Given the description of an element on the screen output the (x, y) to click on. 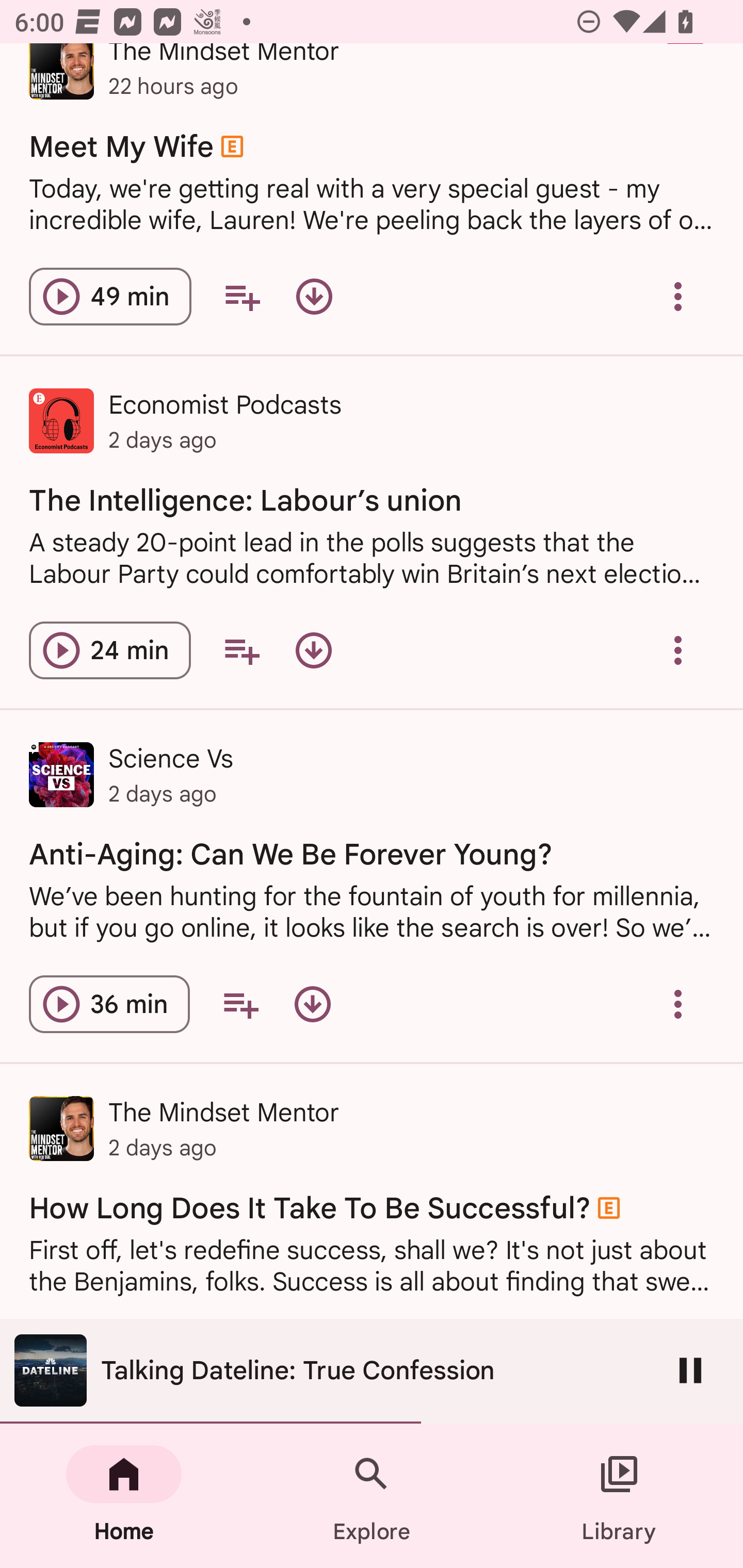
Play episode Meet My Wife 49 min (109, 297)
Add to your queue (241, 297)
Download episode (313, 297)
Overflow menu (677, 297)
Add to your queue (241, 649)
Download episode (313, 649)
Overflow menu (677, 649)
Add to your queue (240, 1004)
Download episode (312, 1004)
Overflow menu (677, 1004)
Pause (690, 1370)
Explore (371, 1495)
Library (619, 1495)
